Given the description of an element on the screen output the (x, y) to click on. 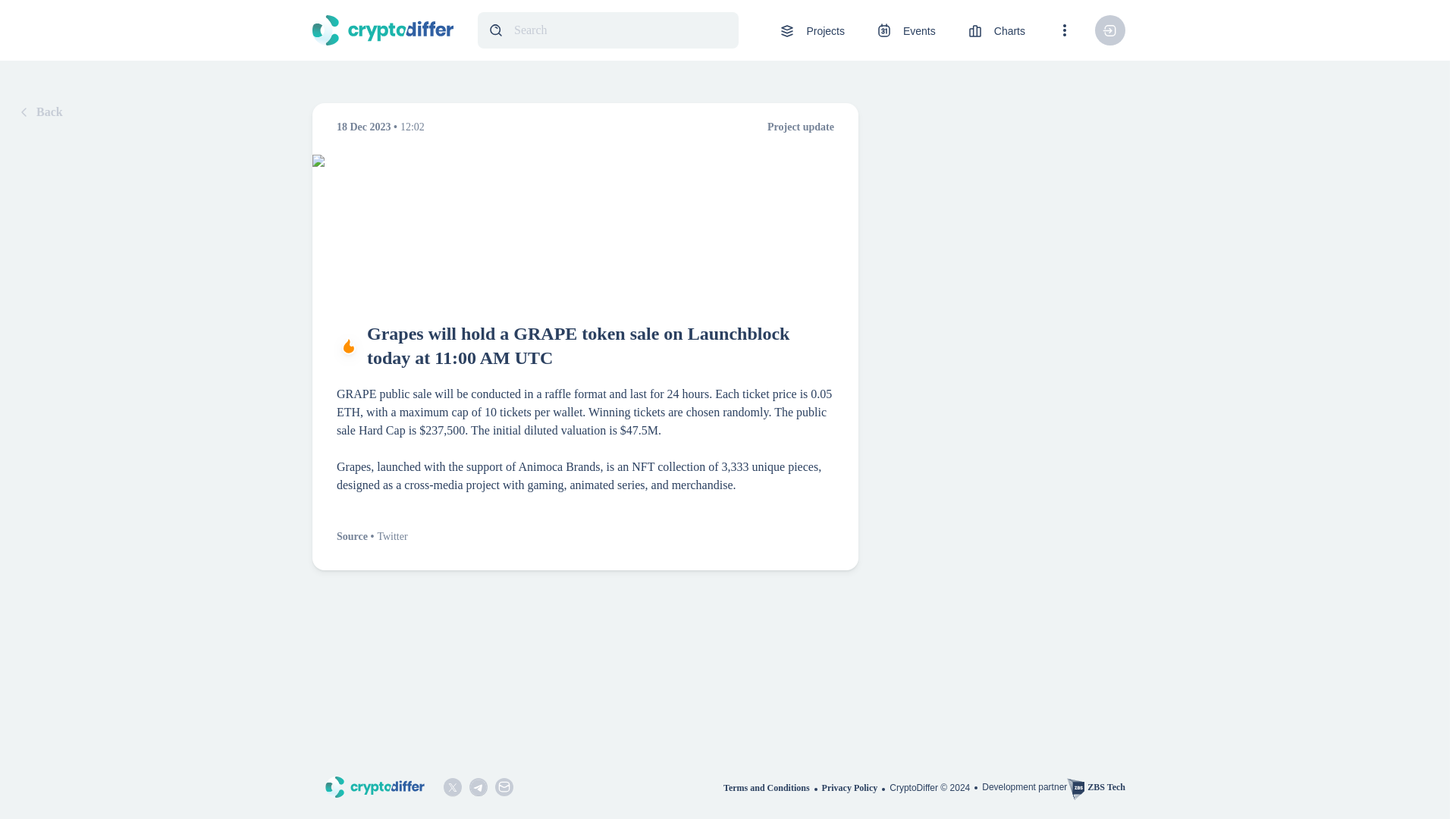
Privacy Policy (855, 786)
Events (905, 29)
Projects (810, 29)
Charts (995, 29)
Twitter (392, 536)
ZBS Tech (1096, 787)
Back (38, 112)
Terms and Conditions (772, 786)
